Given the description of an element on the screen output the (x, y) to click on. 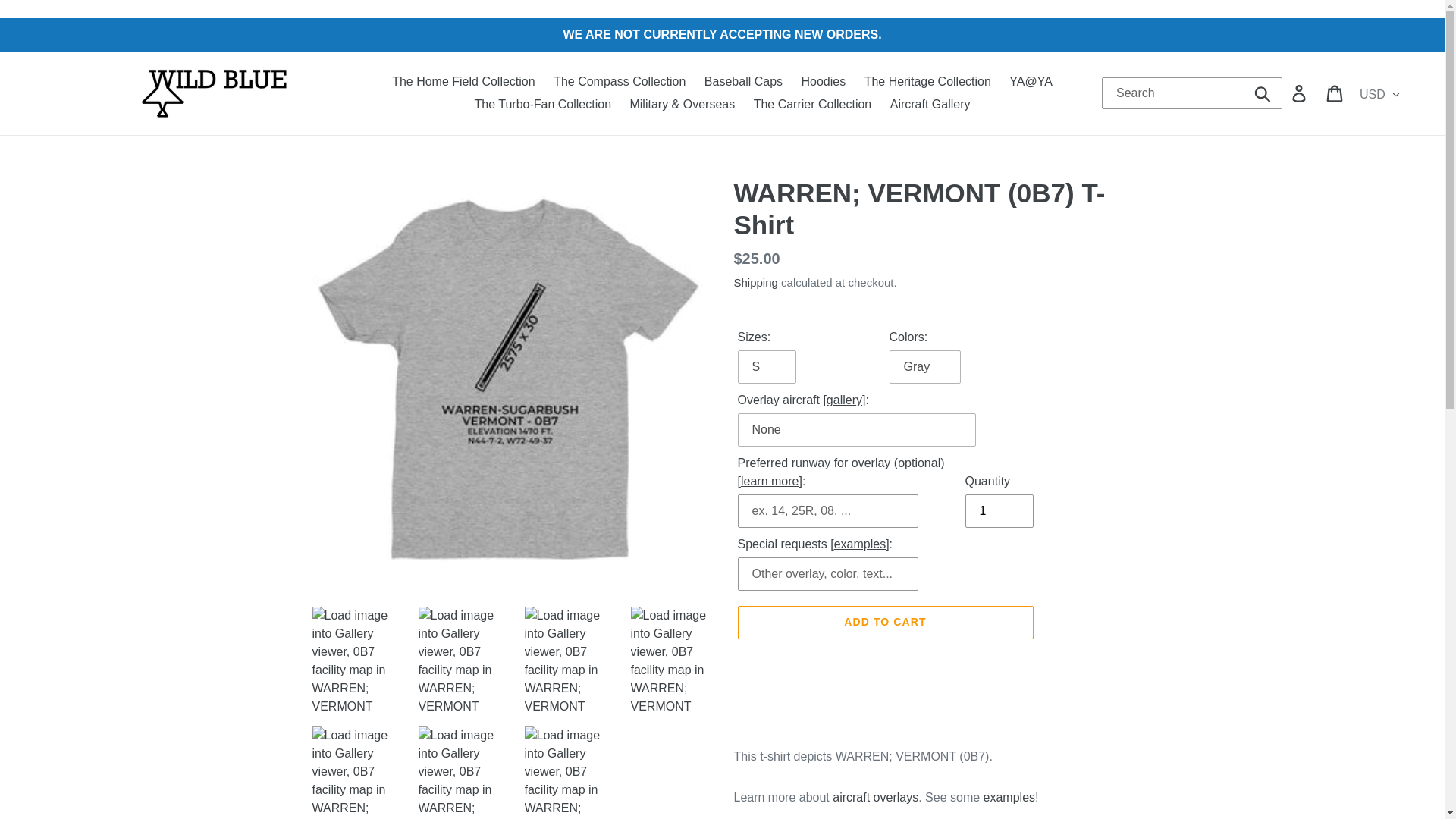
The Turbo-Fan Collection (543, 104)
Submit (1263, 92)
Log in (1299, 92)
Baseball Caps (743, 81)
The Carrier Collection (812, 104)
The Home Field Collection (463, 81)
Cart (1335, 92)
Hoodies (823, 81)
The Compass Collection (619, 81)
The Heritage Collection (927, 81)
1 (997, 510)
Aircraft Gallery (930, 104)
